Given the description of an element on the screen output the (x, y) to click on. 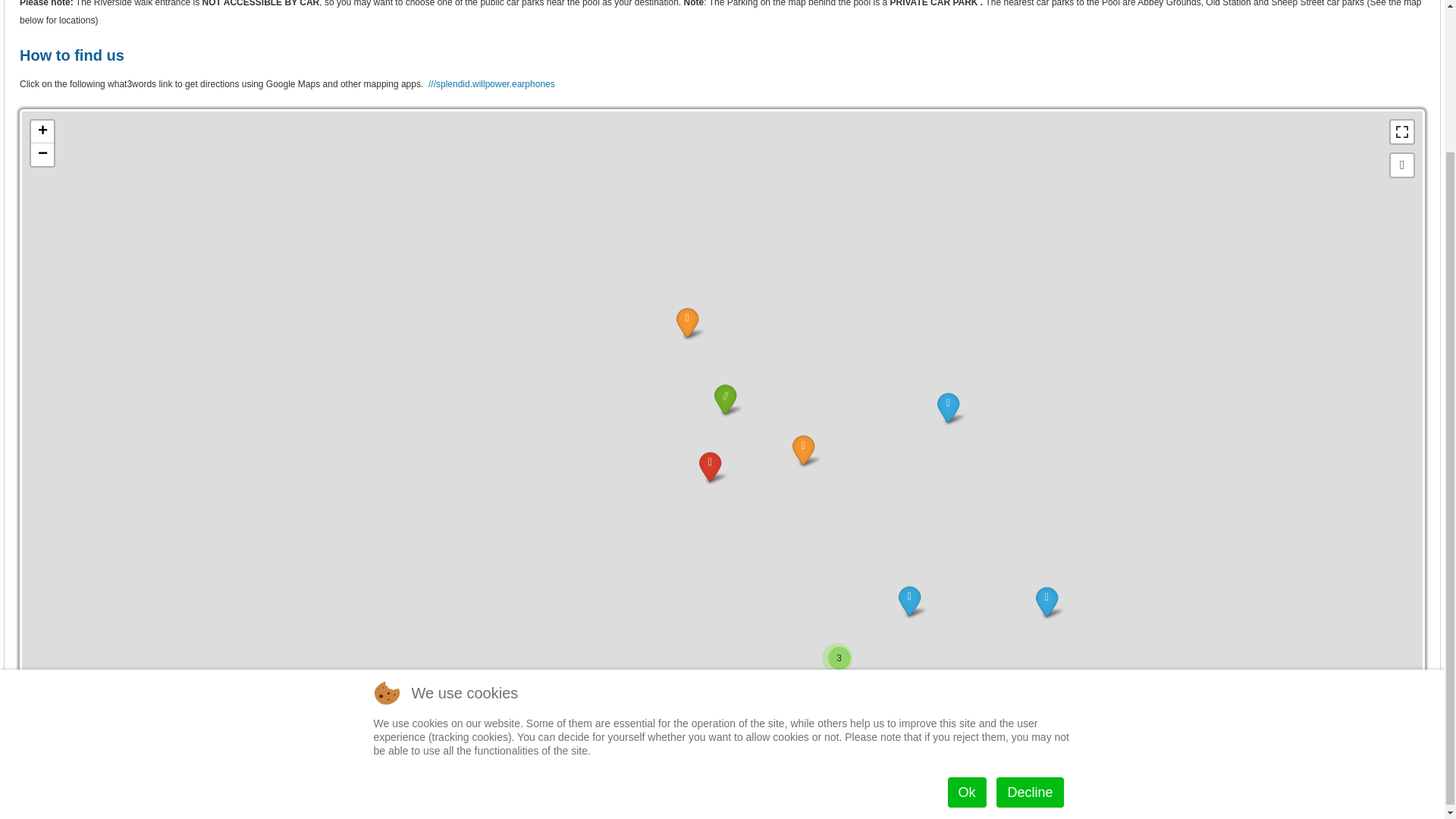
Ok (967, 615)
Phoca.cz (1386, 732)
Phoca Maps (1414, 732)
Zoom out (41, 154)
View Fullscreen (1401, 131)
Maps (1414, 732)
Decline (1028, 615)
A JS library for interactive maps (1331, 706)
Zoom in (41, 131)
Phoca (1386, 732)
